Given the description of an element on the screen output the (x, y) to click on. 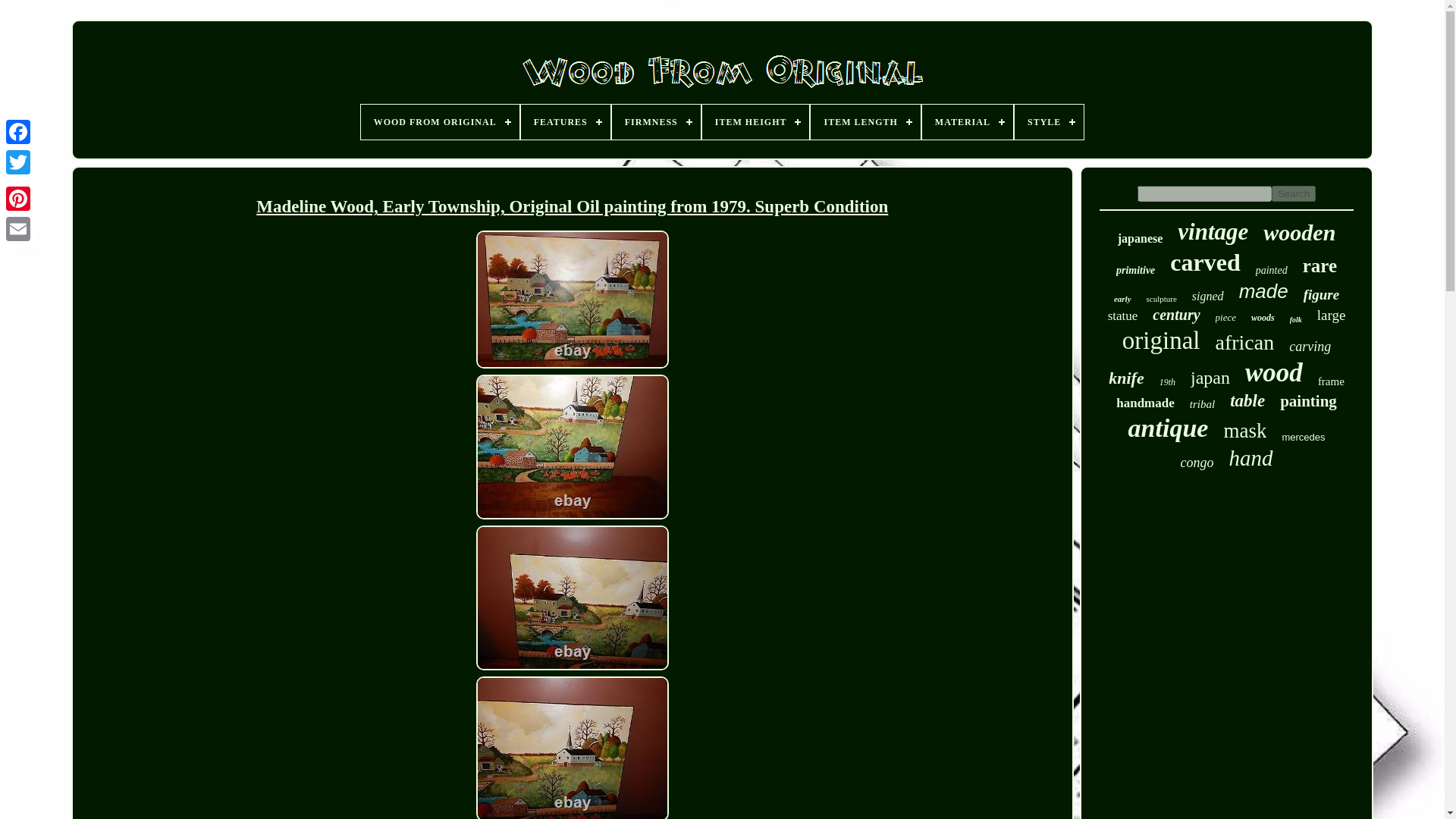
ITEM HEIGHT (755, 121)
FIRMNESS (655, 121)
FEATURES (565, 121)
WOOD FROM ORIGINAL (440, 121)
Search (1293, 193)
